Given the description of an element on the screen output the (x, y) to click on. 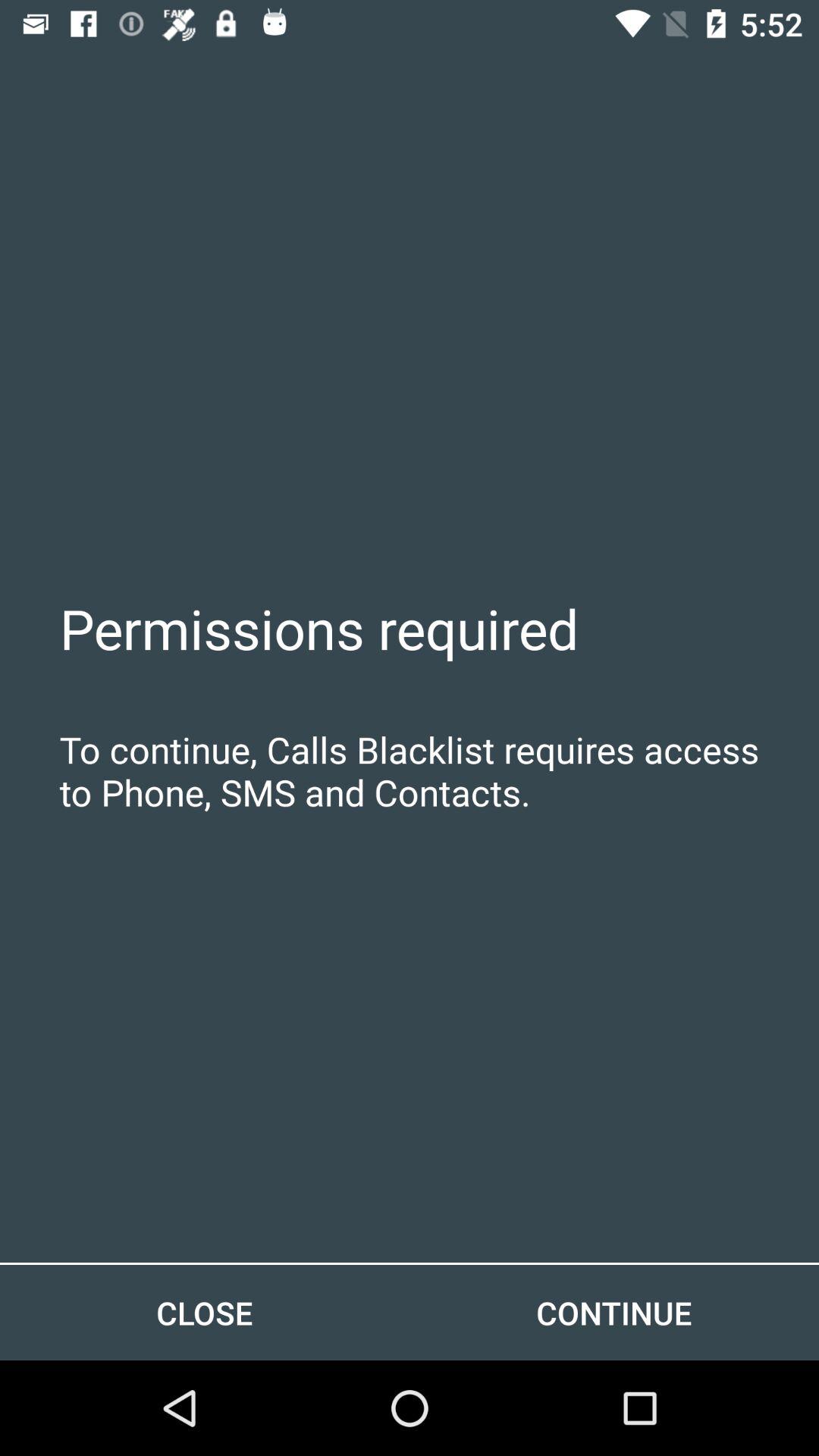
open icon at the bottom left corner (204, 1312)
